Given the description of an element on the screen output the (x, y) to click on. 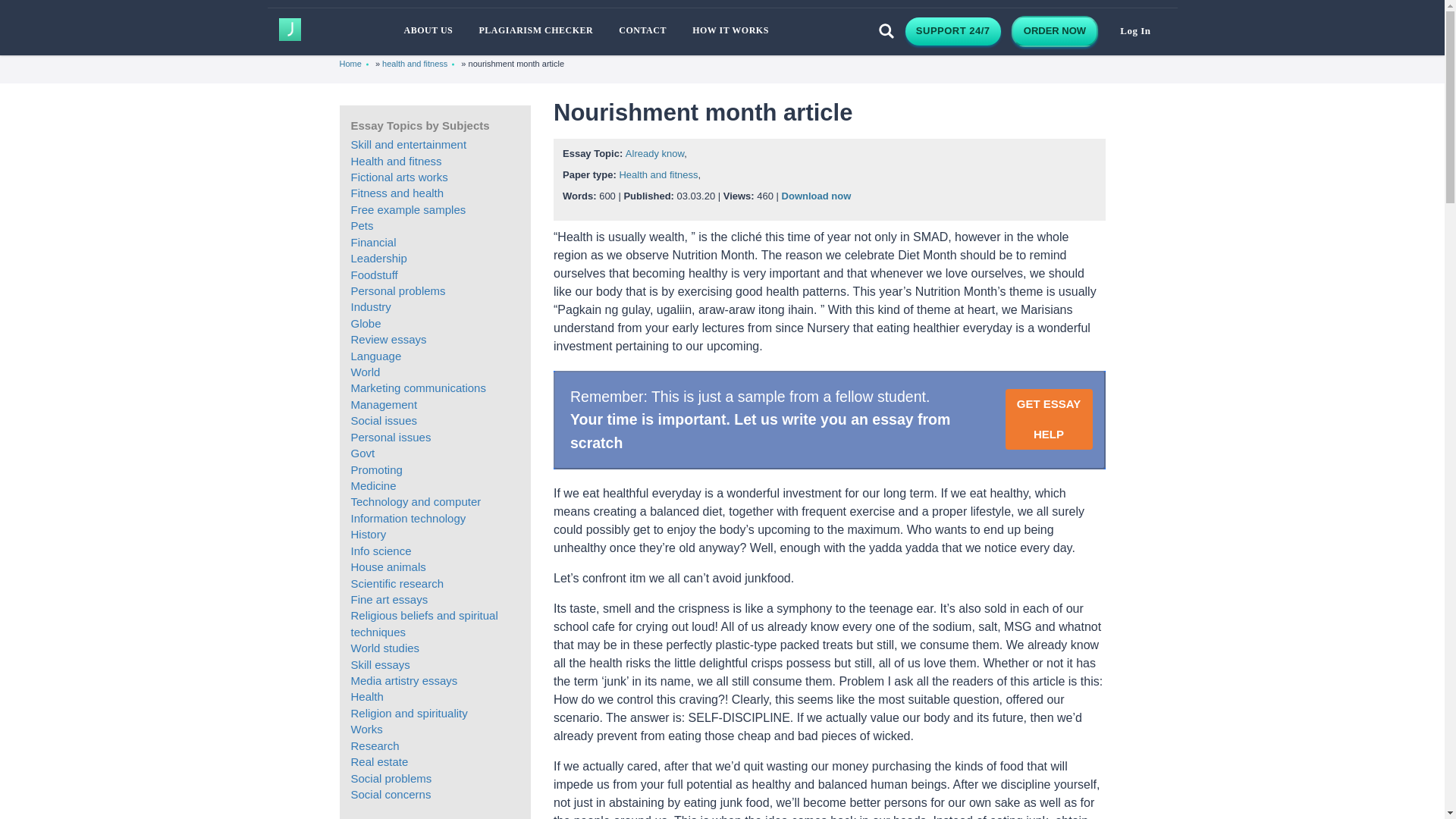
Financial (373, 241)
Information technology (407, 517)
Log In (1134, 31)
Review essays (388, 338)
ORDER NOW (1054, 30)
HOW IT WORKS (730, 31)
Govt (362, 452)
Fictional arts works (398, 176)
Personal problems (397, 290)
health and fitness (413, 64)
